Given the description of an element on the screen output the (x, y) to click on. 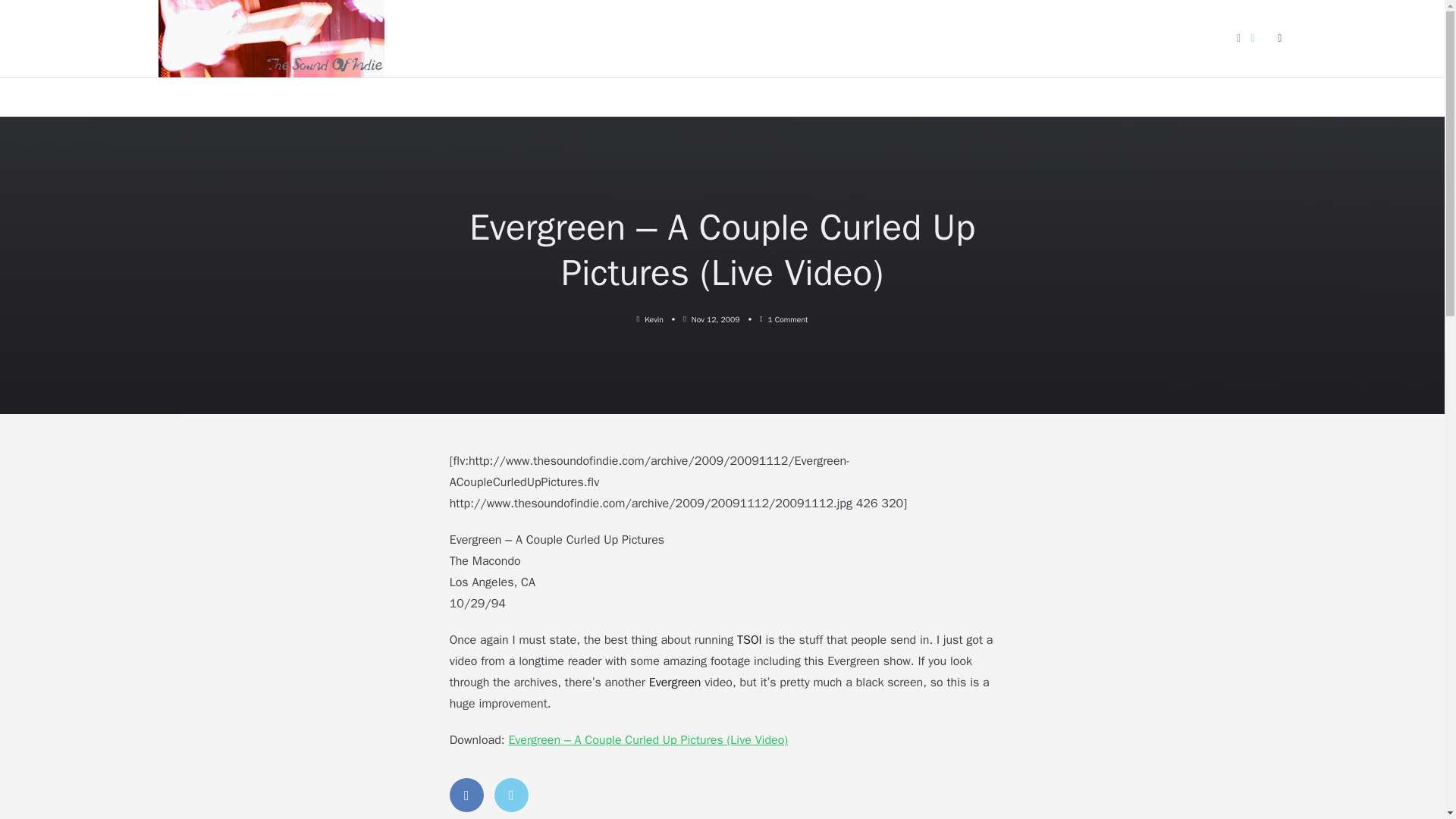
Kevin (654, 319)
Nov 12, 2009 (715, 319)
